Given the description of an element on the screen output the (x, y) to click on. 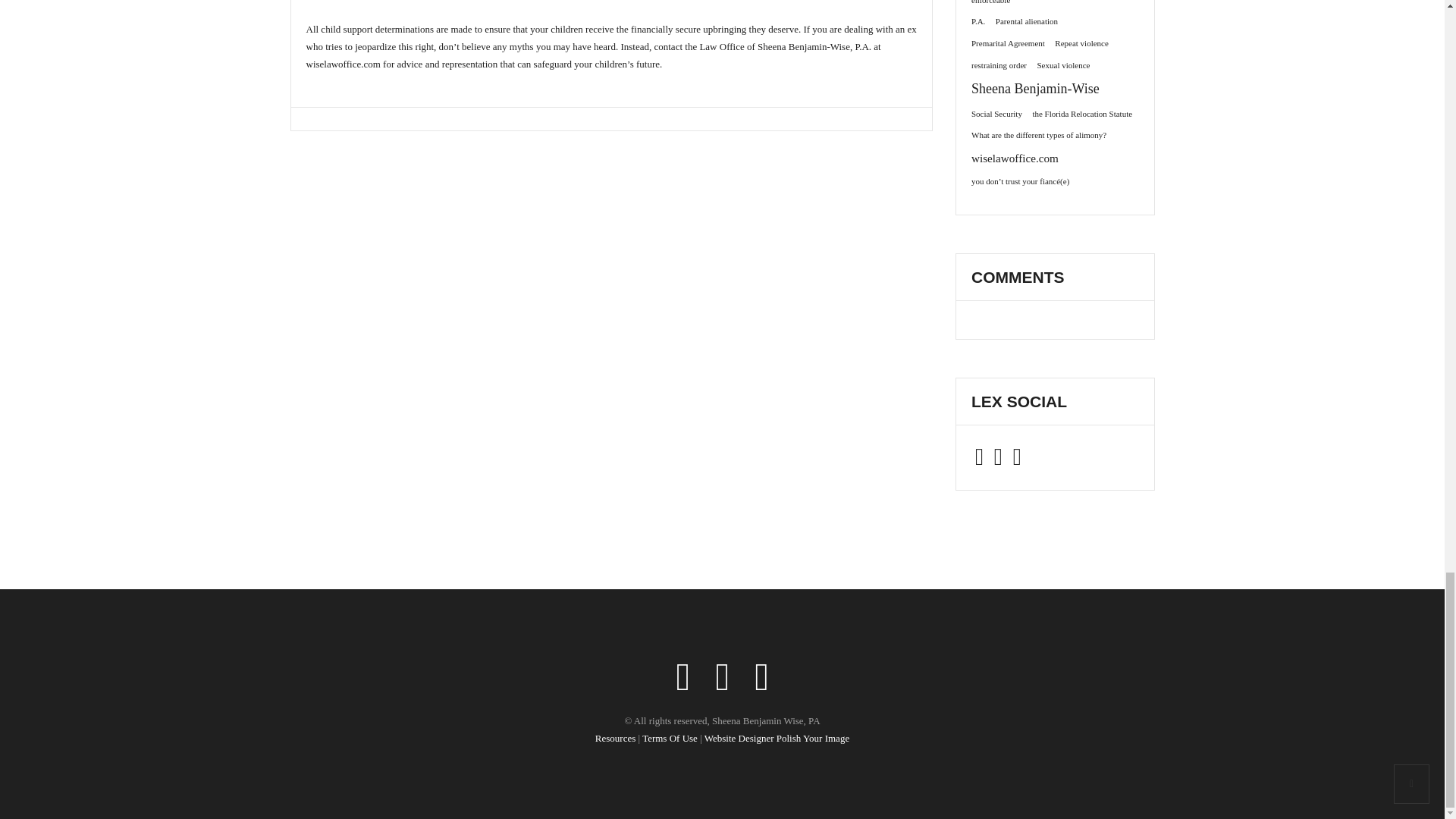
contact (667, 46)
